Given the description of an element on the screen output the (x, y) to click on. 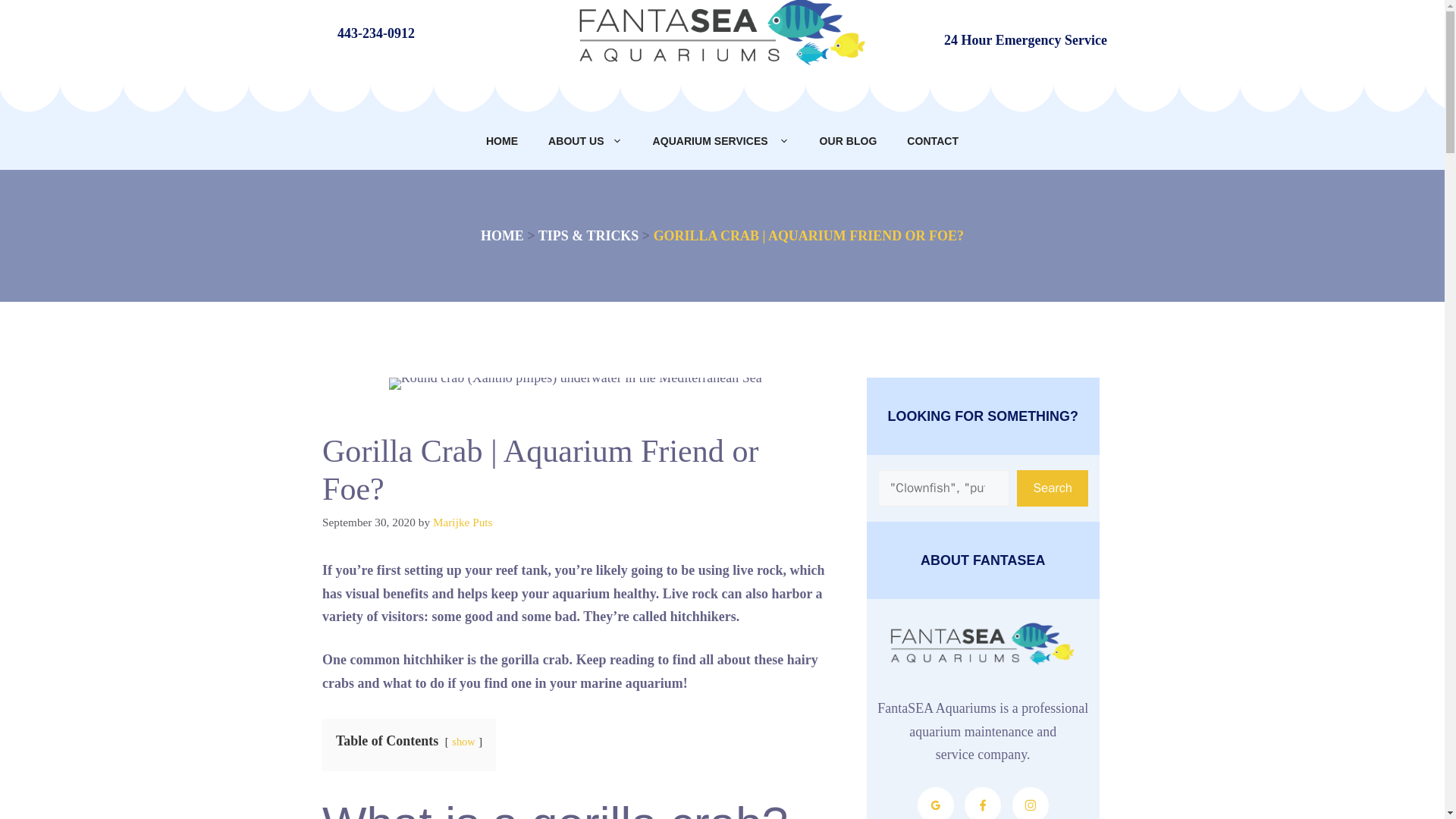
HOME (502, 235)
AQUARIUM SERVICES  (721, 140)
View all posts by Marijke Puts (462, 521)
HOME (501, 140)
Marijke Puts (462, 521)
CONTACT (932, 140)
OUR BLOG (848, 140)
443-234-0912 (375, 32)
ABOUT US (584, 140)
show (462, 741)
